Given the description of an element on the screen output the (x, y) to click on. 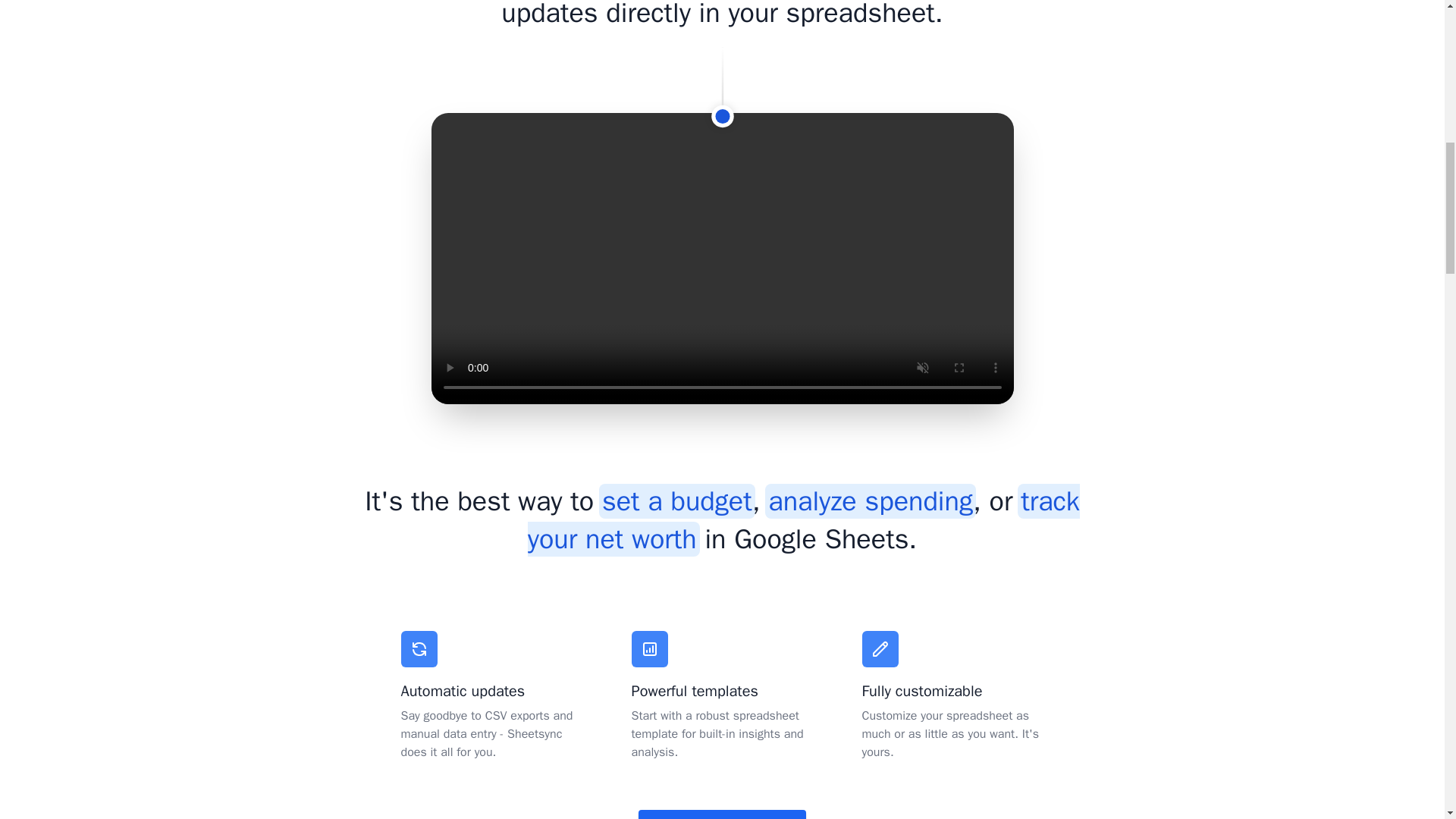
Install on Google Sheets (722, 814)
